Given the description of an element on the screen output the (x, y) to click on. 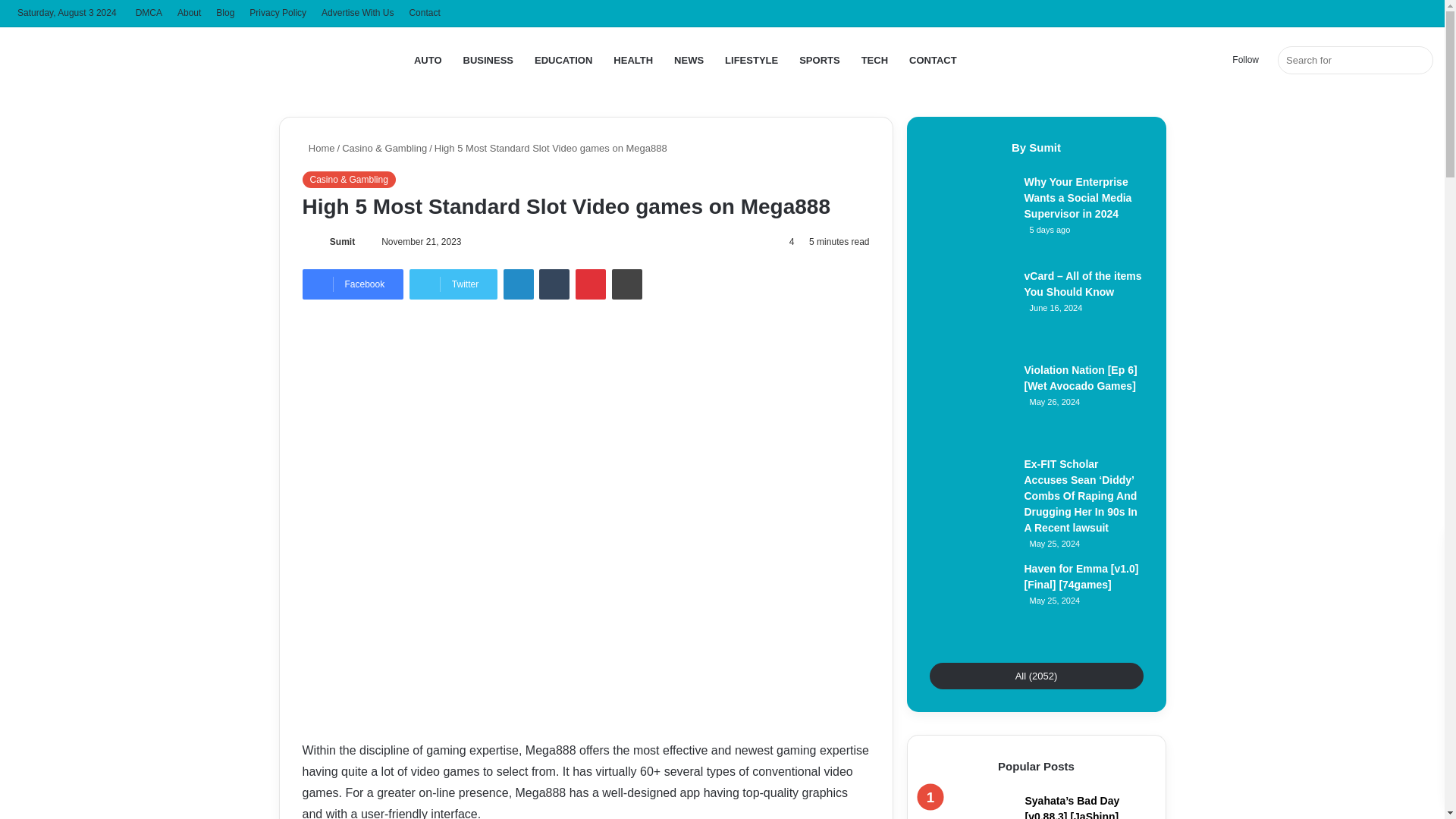
Privacy Policy (277, 13)
BUSINESS (488, 60)
LinkedIn (518, 284)
DMCA (149, 13)
Advertise With Us (357, 13)
Facebook (352, 284)
About (189, 13)
Sumit (342, 241)
Search for (1355, 59)
CONTACT (933, 60)
